Given the description of an element on the screen output the (x, y) to click on. 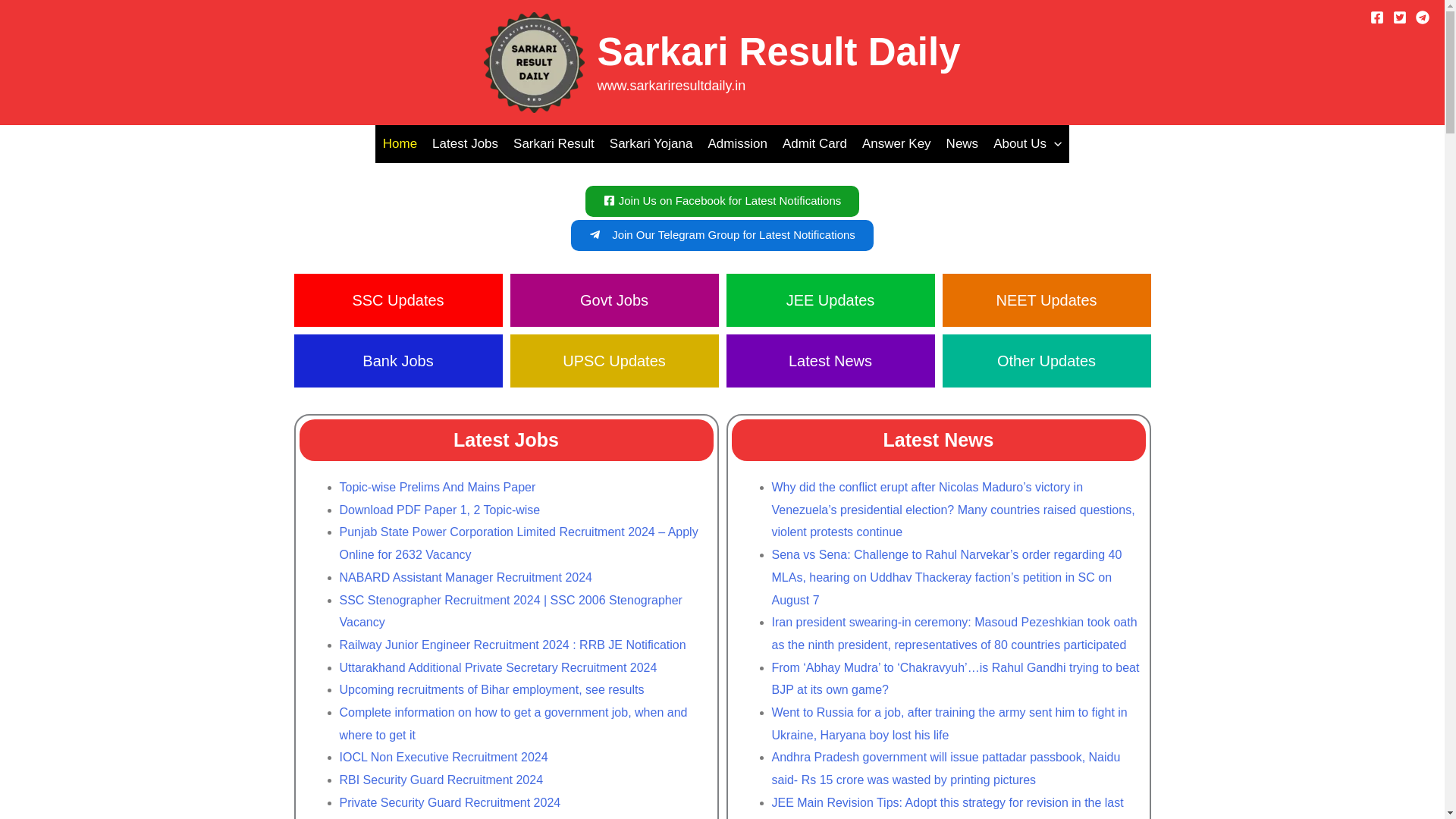
About Us (1026, 143)
Admit Card (814, 143)
Sarkari Result Daily (777, 51)
Answer Key (896, 143)
Sarkari Yojana (651, 143)
Home (400, 143)
Sarkari Result (553, 143)
News (963, 143)
Admission (737, 143)
Latest Jobs (465, 143)
